Given the description of an element on the screen output the (x, y) to click on. 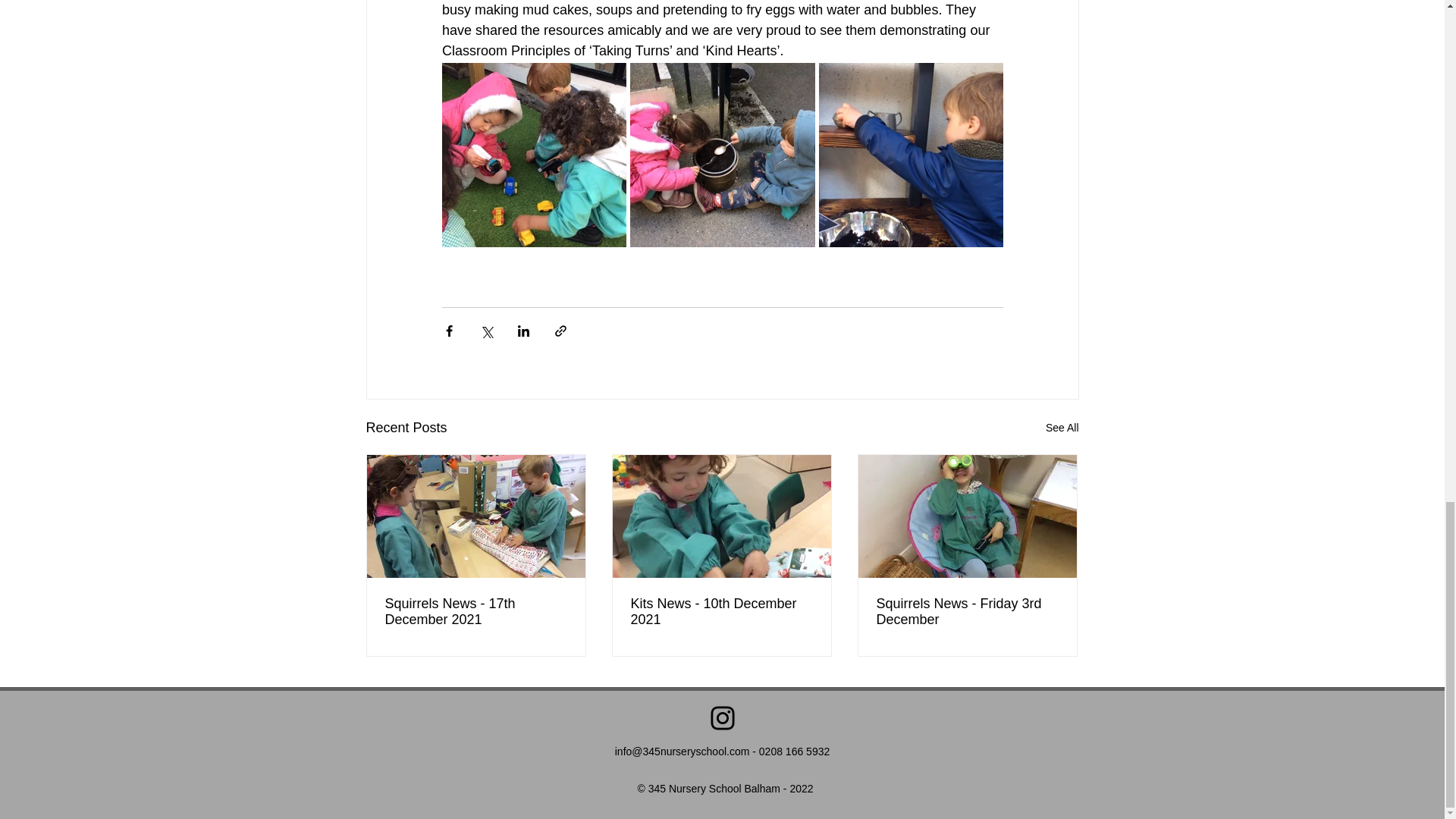
Squirrels News - 17th December 2021 (476, 612)
Kits News - 10th December 2021 (721, 612)
See All (1061, 427)
Squirrels News - Friday 3rd December (967, 612)
